Given the description of an element on the screen output the (x, y) to click on. 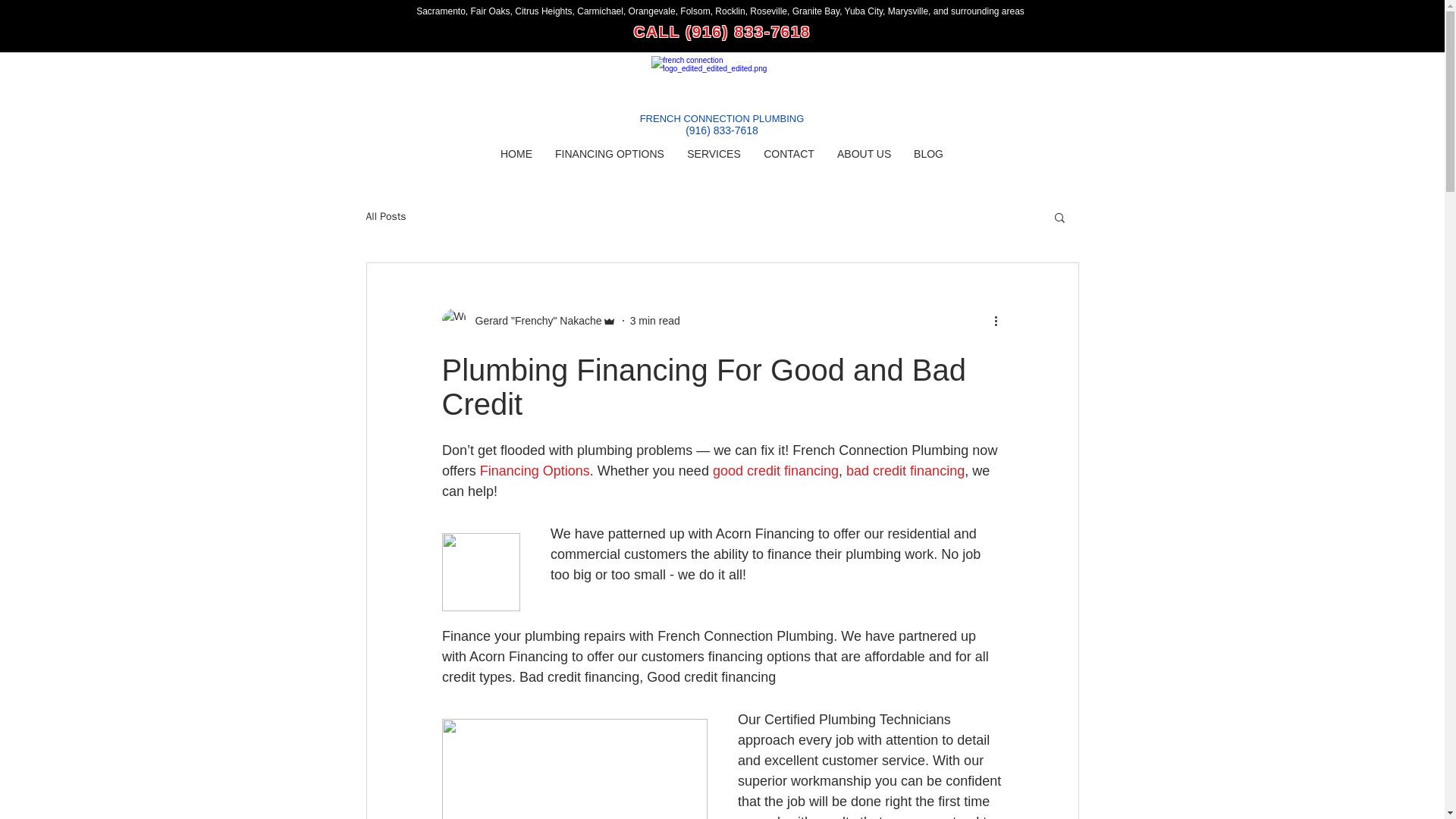
FRENCH CONNECTION PLUMBING (722, 118)
ABOUT US (863, 153)
BLOG (928, 153)
Gerard "Frenchy" Nakache (533, 320)
All Posts (385, 216)
good credit financing (774, 470)
CONTACT (788, 153)
Gerard "Frenchy" Nakache (528, 320)
HOME (516, 153)
SERVICES (713, 153)
